Given the description of an element on the screen output the (x, y) to click on. 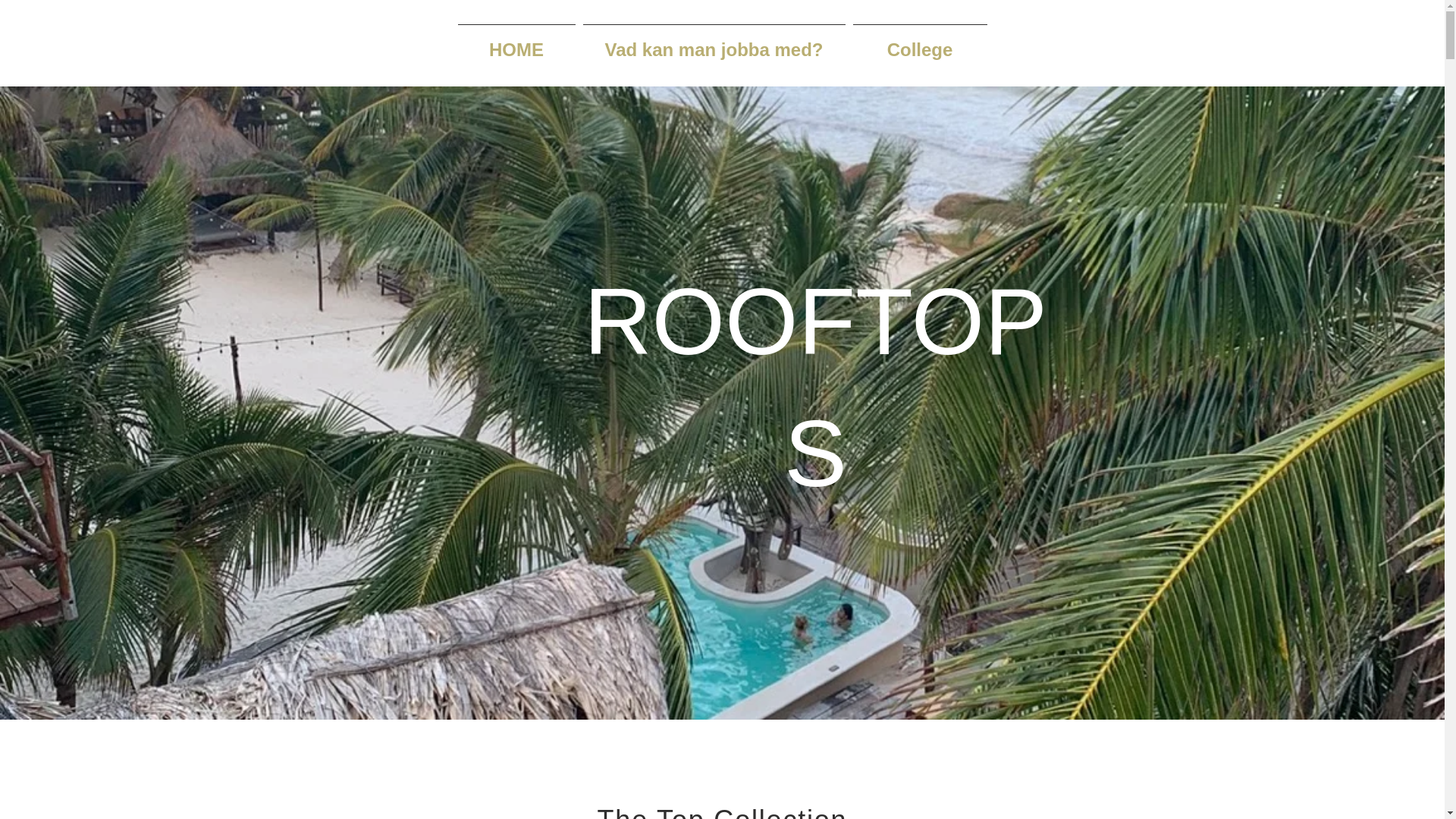
HOME (515, 43)
Vad kan man jobba med? (713, 43)
College (919, 43)
